Given the description of an element on the screen output the (x, y) to click on. 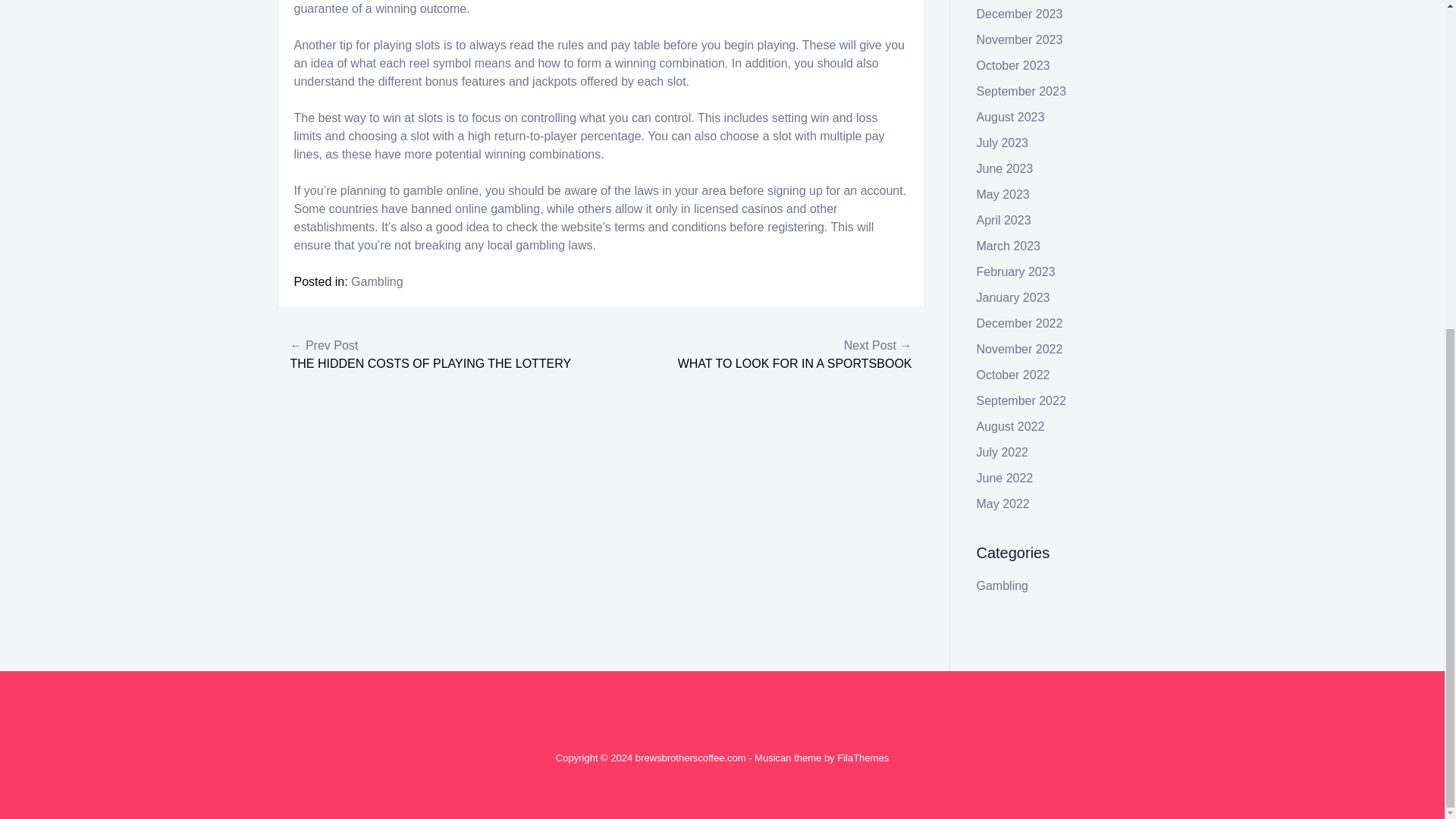
May 2023 (1002, 194)
September 2023 (1020, 91)
December 2023 (1019, 13)
June 2022 (1004, 477)
September 2022 (1020, 400)
July 2023 (1002, 142)
March 2023 (1008, 245)
brewsbrotherscoffee.com (689, 757)
November 2022 (1019, 349)
February 2023 (1015, 271)
